Given the description of an element on the screen output the (x, y) to click on. 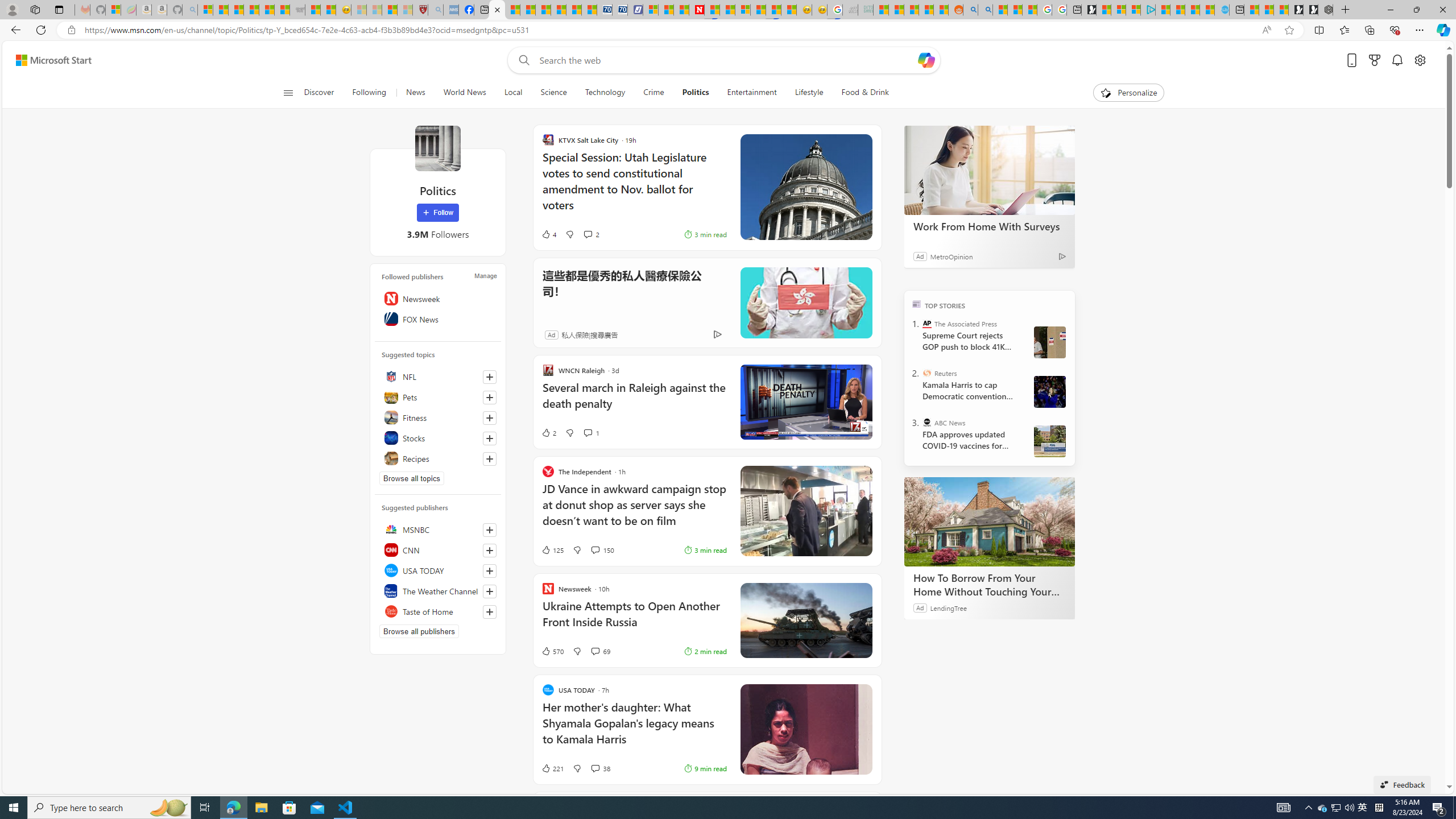
View comments 69 Comment (599, 650)
The Weather Channel - MSN (236, 9)
The Associated Press (927, 323)
Student Loan Update: Forgiveness Program Ends This Month (926, 9)
CNN (437, 549)
